Given the description of an element on the screen output the (x, y) to click on. 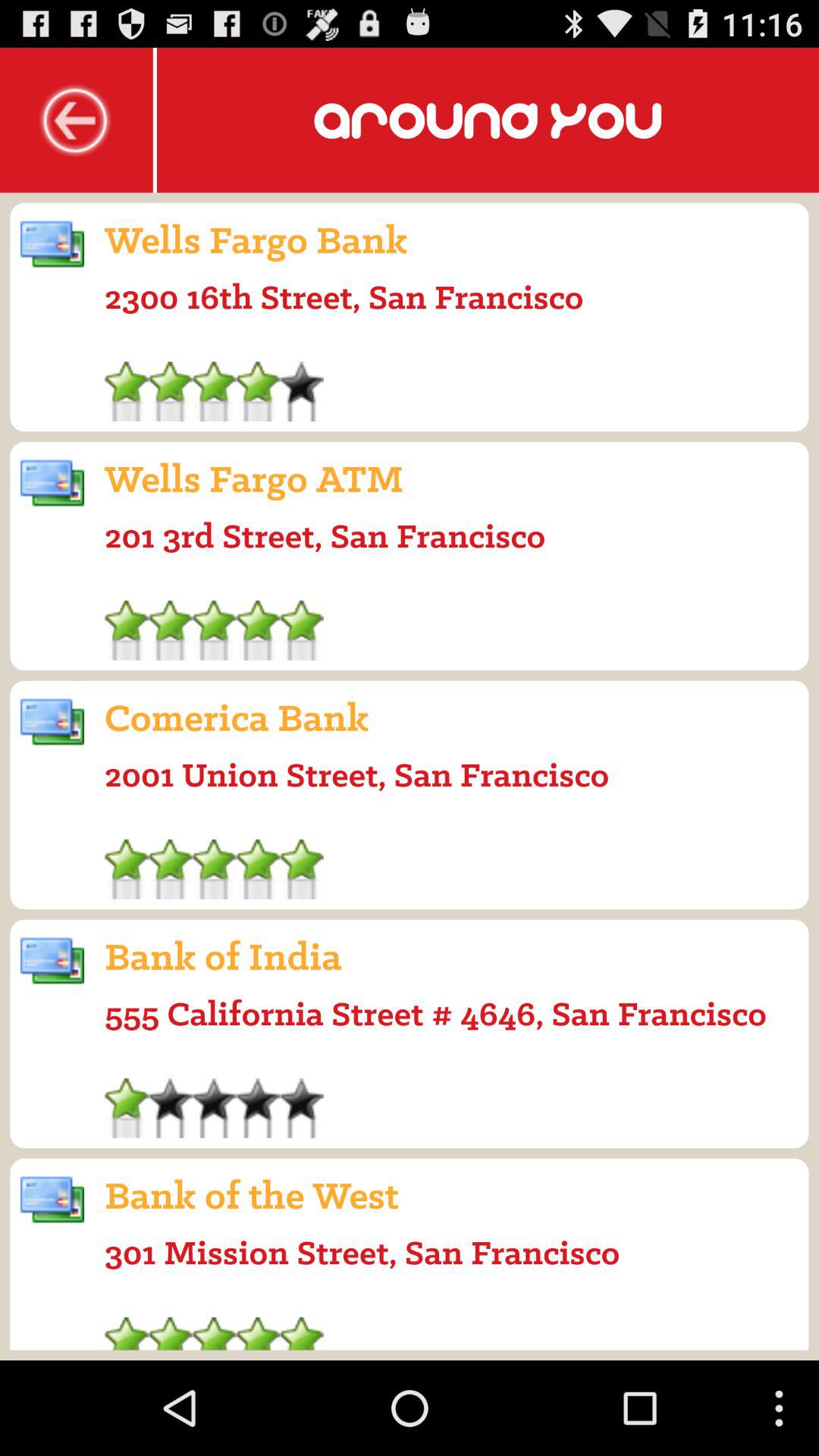
turn on 301 mission street icon (361, 1252)
